Given the description of an element on the screen output the (x, y) to click on. 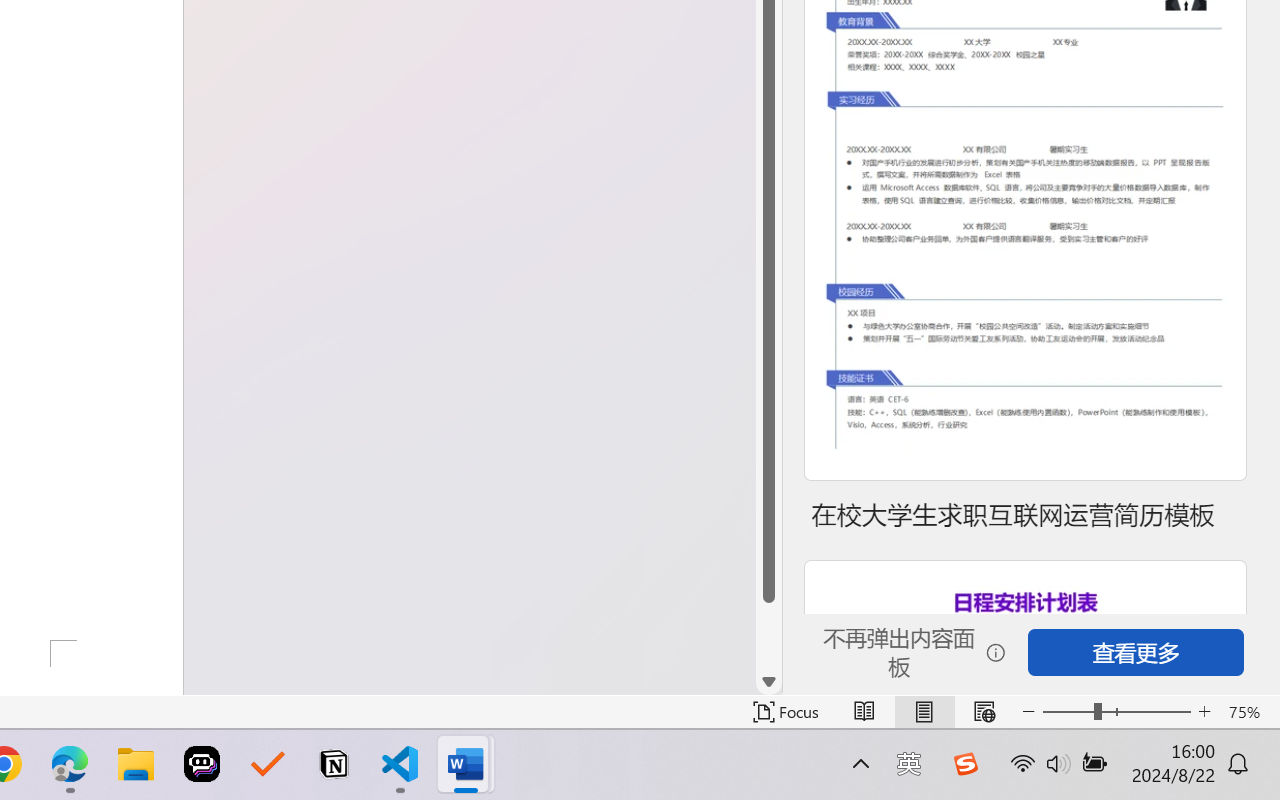
Page down (769, 635)
Line down (769, 681)
Zoom In (1204, 712)
Web Layout (984, 712)
Class: Image (965, 764)
Focus  (786, 712)
Read Mode (864, 712)
Zoom (1116, 712)
Print Layout (924, 712)
Zoom Out (1067, 712)
